Given the description of an element on the screen output the (x, y) to click on. 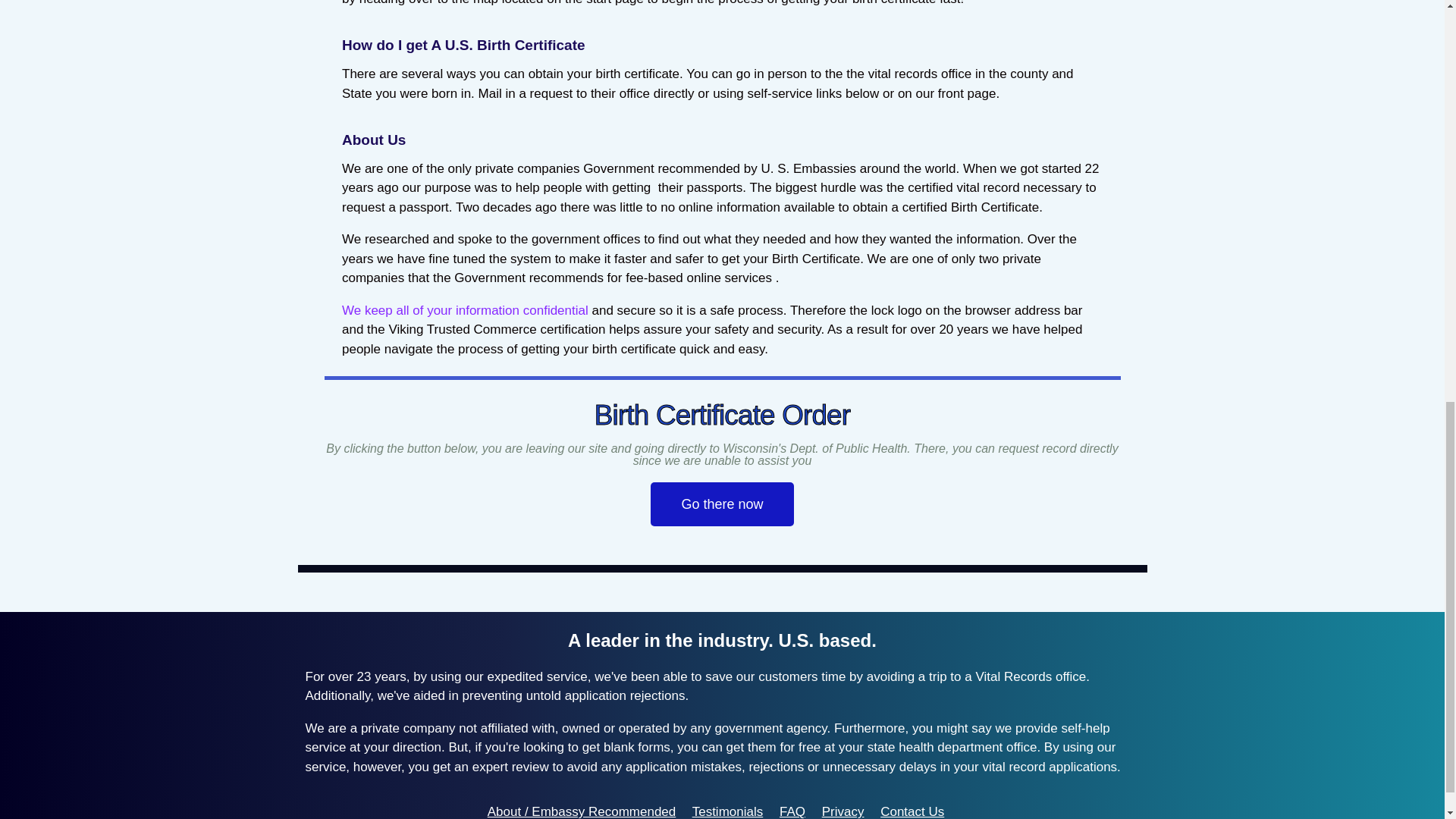
Testimonials (727, 811)
Privacy (843, 811)
We keep all of your information confidential (465, 310)
FAQ (791, 811)
Go there now (721, 504)
Contact Us (911, 811)
